Given the description of an element on the screen output the (x, y) to click on. 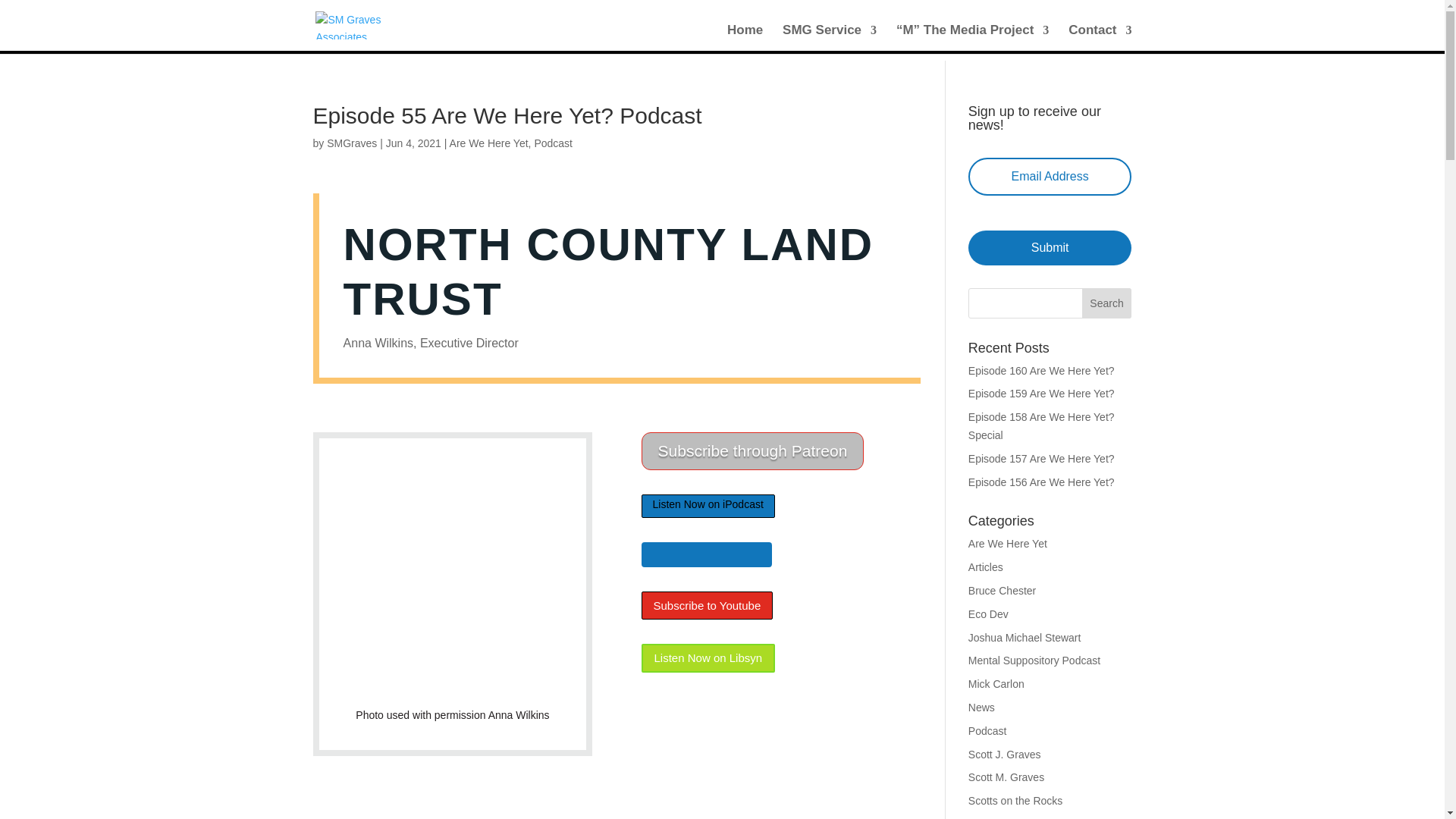
Contact (1099, 37)
Home (744, 37)
Podcast (553, 143)
SMGraves (351, 143)
Submit (1050, 247)
Listen Now on iPodcast (708, 505)
Listen Now on Libsyn (709, 658)
Subscribe to Youtube (707, 605)
SMG Service (829, 37)
Listen Now on Stitcher (706, 554)
